Given the description of an element on the screen output the (x, y) to click on. 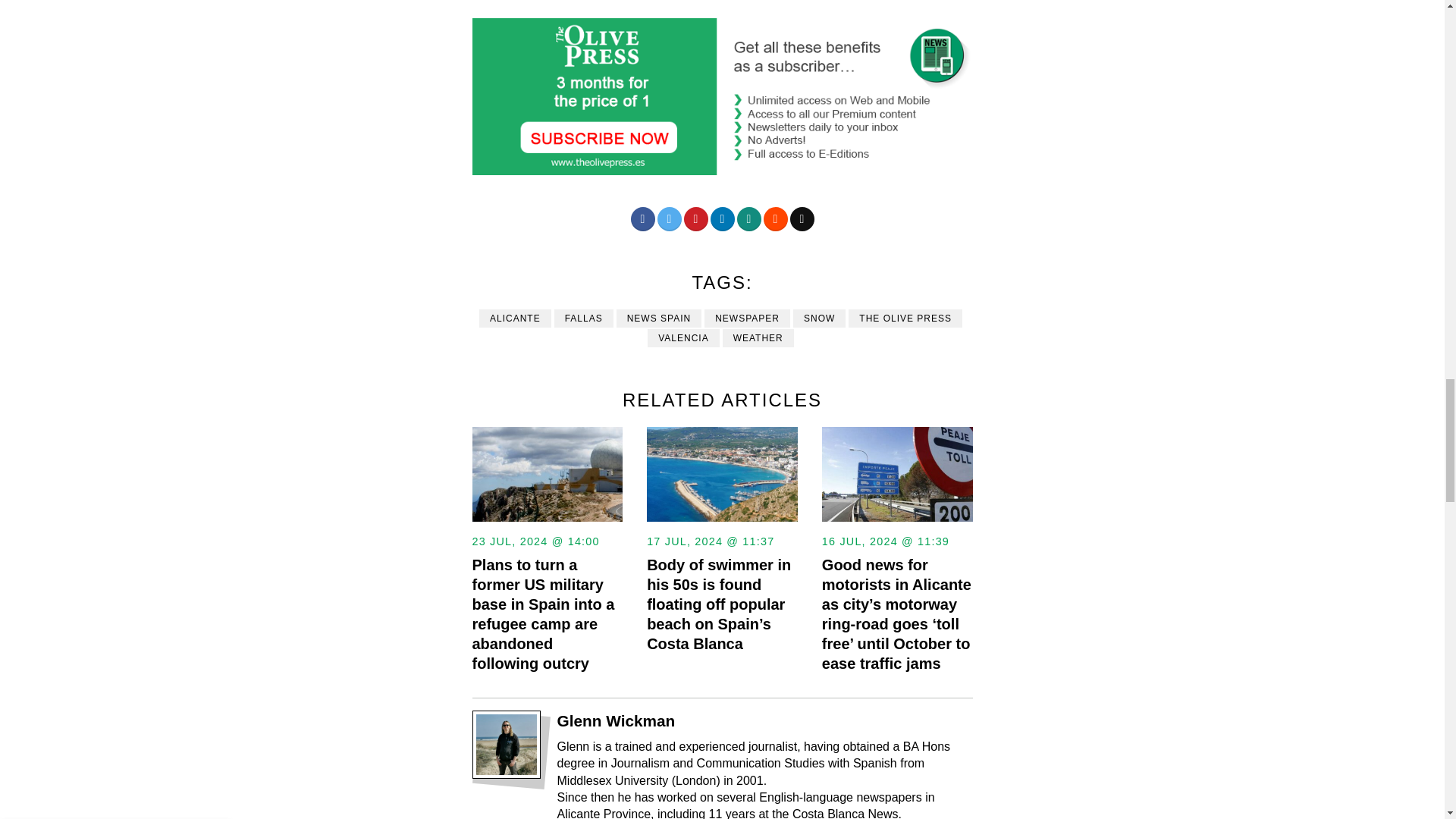
23 Jul, 2024 14:00:00 (534, 540)
17 Jul, 2024 11:45:37 (710, 540)
16 Jul, 2024 11:12:39 (885, 540)
